Given the description of an element on the screen output the (x, y) to click on. 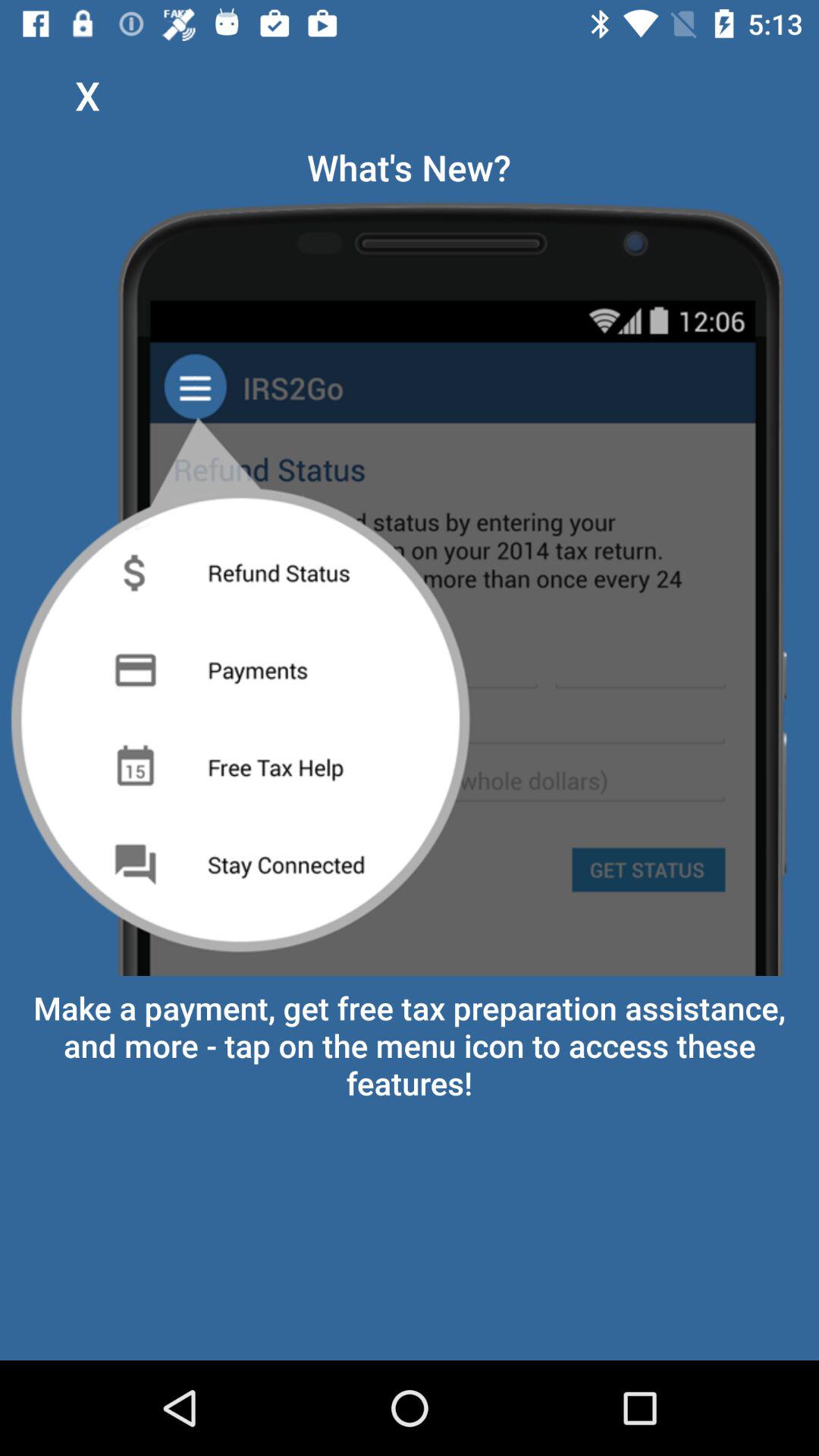
scroll until the x item (87, 95)
